Given the description of an element on the screen output the (x, y) to click on. 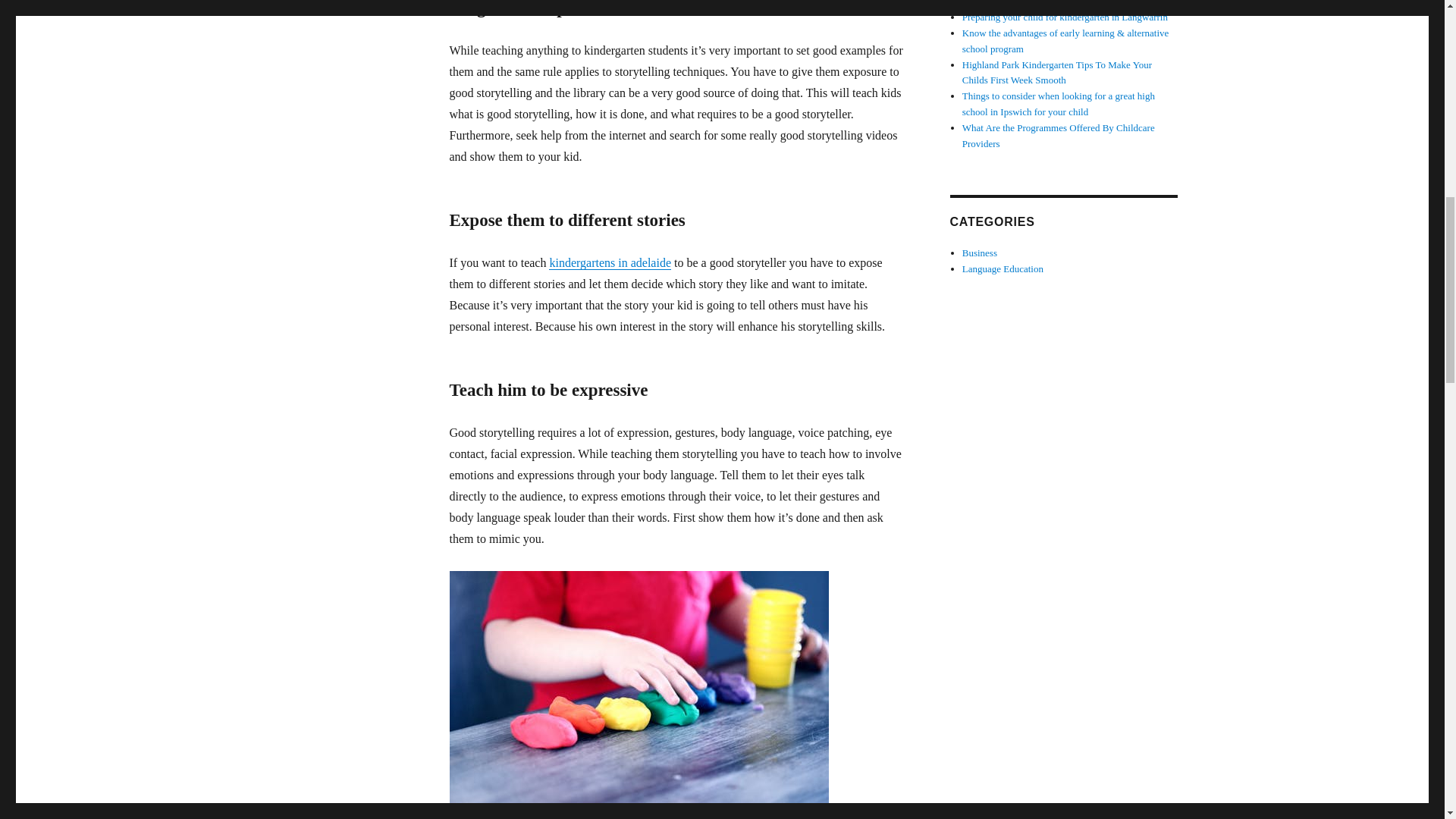
Preparing your child for kindergarten in Langwarrin (1064, 16)
kindergartens in adelaide (609, 262)
Language Education (1002, 268)
Business (979, 252)
What Are the Programmes Offered By Childcare Providers (1058, 135)
